Given the description of an element on the screen output the (x, y) to click on. 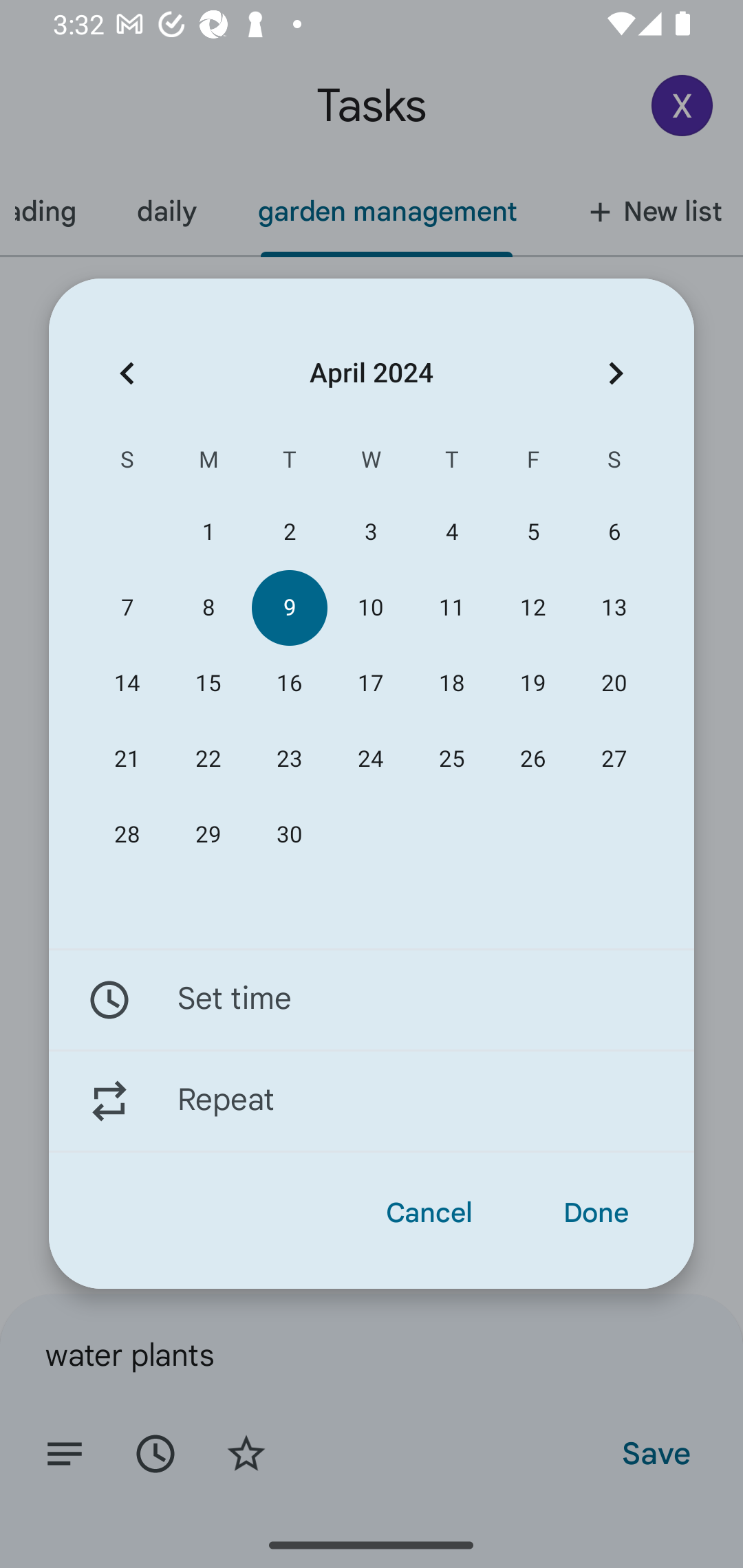
Previous month (126, 372)
Next month (615, 372)
1 01 April 2024 (207, 531)
2 02 April 2024 (288, 531)
3 03 April 2024 (370, 531)
4 04 April 2024 (451, 531)
5 05 April 2024 (532, 531)
6 06 April 2024 (613, 531)
7 07 April 2024 (126, 608)
8 08 April 2024 (207, 608)
9 09 April 2024 (288, 608)
10 10 April 2024 (370, 608)
11 11 April 2024 (451, 608)
12 12 April 2024 (532, 608)
13 13 April 2024 (613, 608)
14 14 April 2024 (126, 683)
15 15 April 2024 (207, 683)
16 16 April 2024 (288, 683)
17 17 April 2024 (370, 683)
18 18 April 2024 (451, 683)
19 19 April 2024 (532, 683)
20 20 April 2024 (613, 683)
21 21 April 2024 (126, 758)
22 22 April 2024 (207, 758)
23 23 April 2024 (288, 758)
24 24 April 2024 (370, 758)
25 25 April 2024 (451, 758)
26 26 April 2024 (532, 758)
27 27 April 2024 (613, 758)
28 28 April 2024 (126, 834)
29 29 April 2024 (207, 834)
30 30 April 2024 (288, 834)
Set time (371, 999)
Repeat (371, 1101)
Cancel (429, 1213)
Done (595, 1213)
